Given the description of an element on the screen output the (x, y) to click on. 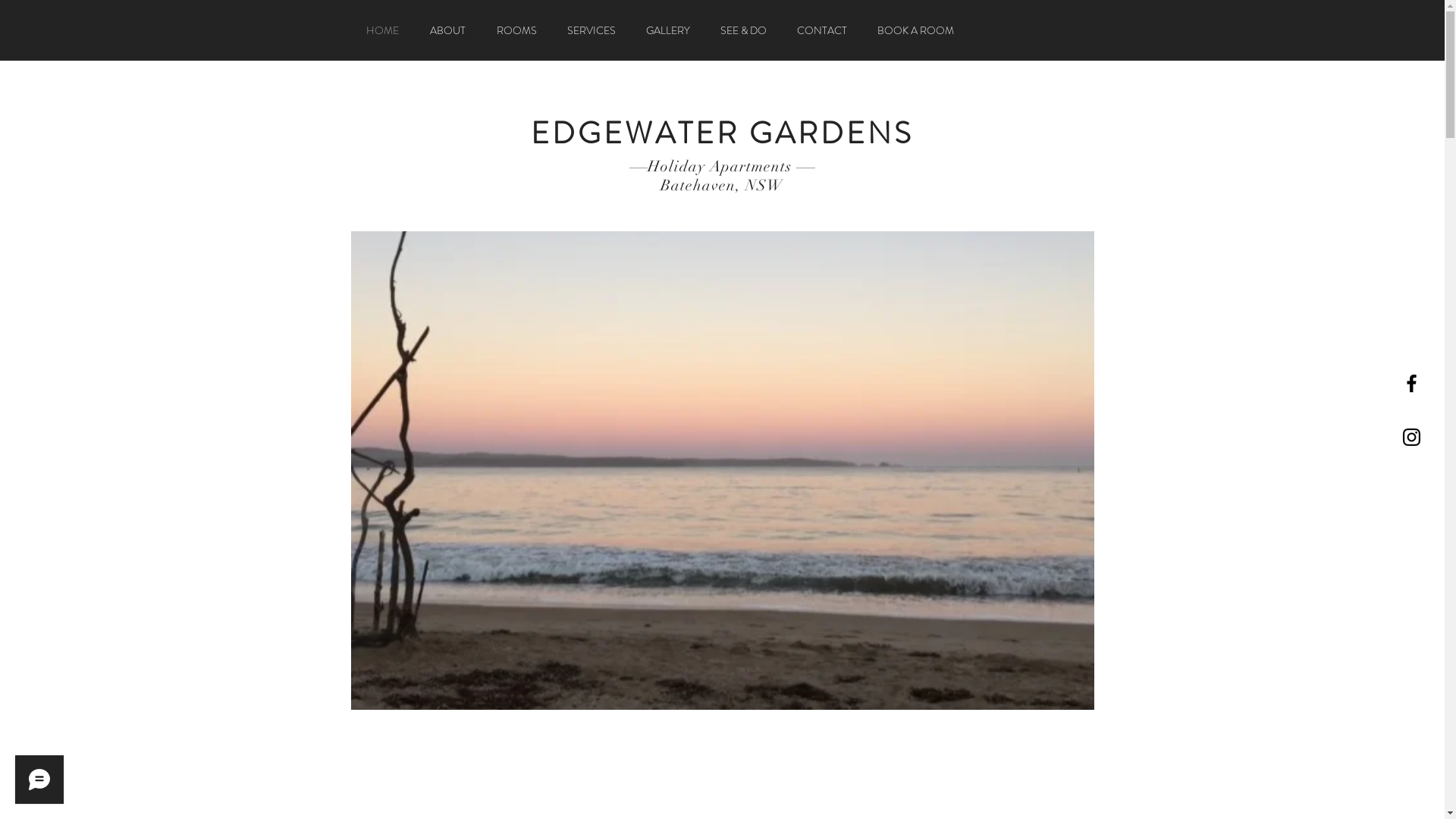
GALLERY Element type: text (667, 30)
SERVICES Element type: text (591, 30)
ROOMS Element type: text (515, 30)
HOME Element type: text (382, 30)
ABOUT Element type: text (447, 30)
BOOK A ROOM Element type: text (914, 30)
SEE & DO Element type: text (743, 30)
CONTACT Element type: text (821, 30)
